Given the description of an element on the screen output the (x, y) to click on. 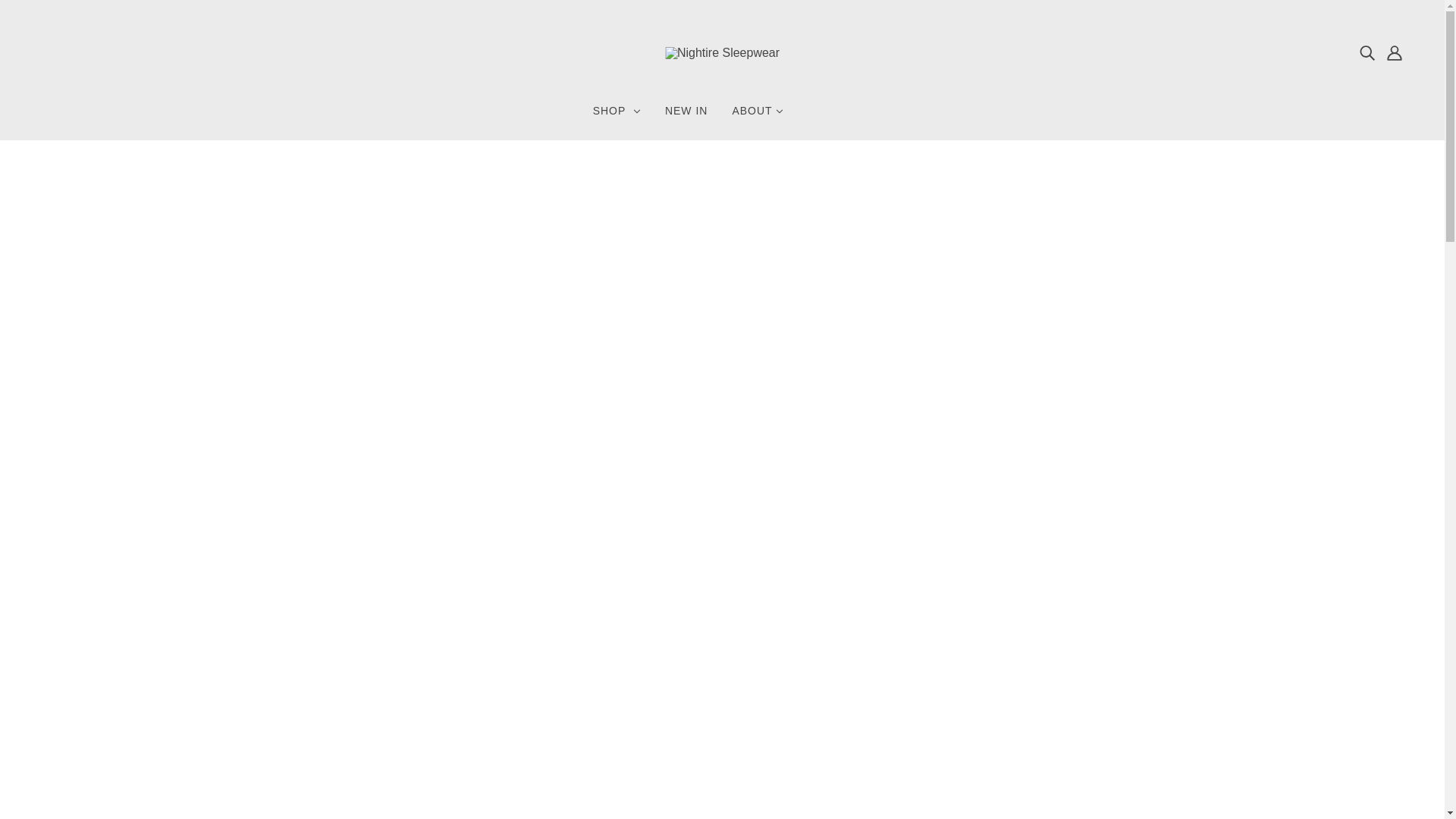
Nightire Sleepwear (721, 51)
SHOP   (616, 116)
